Given the description of an element on the screen output the (x, y) to click on. 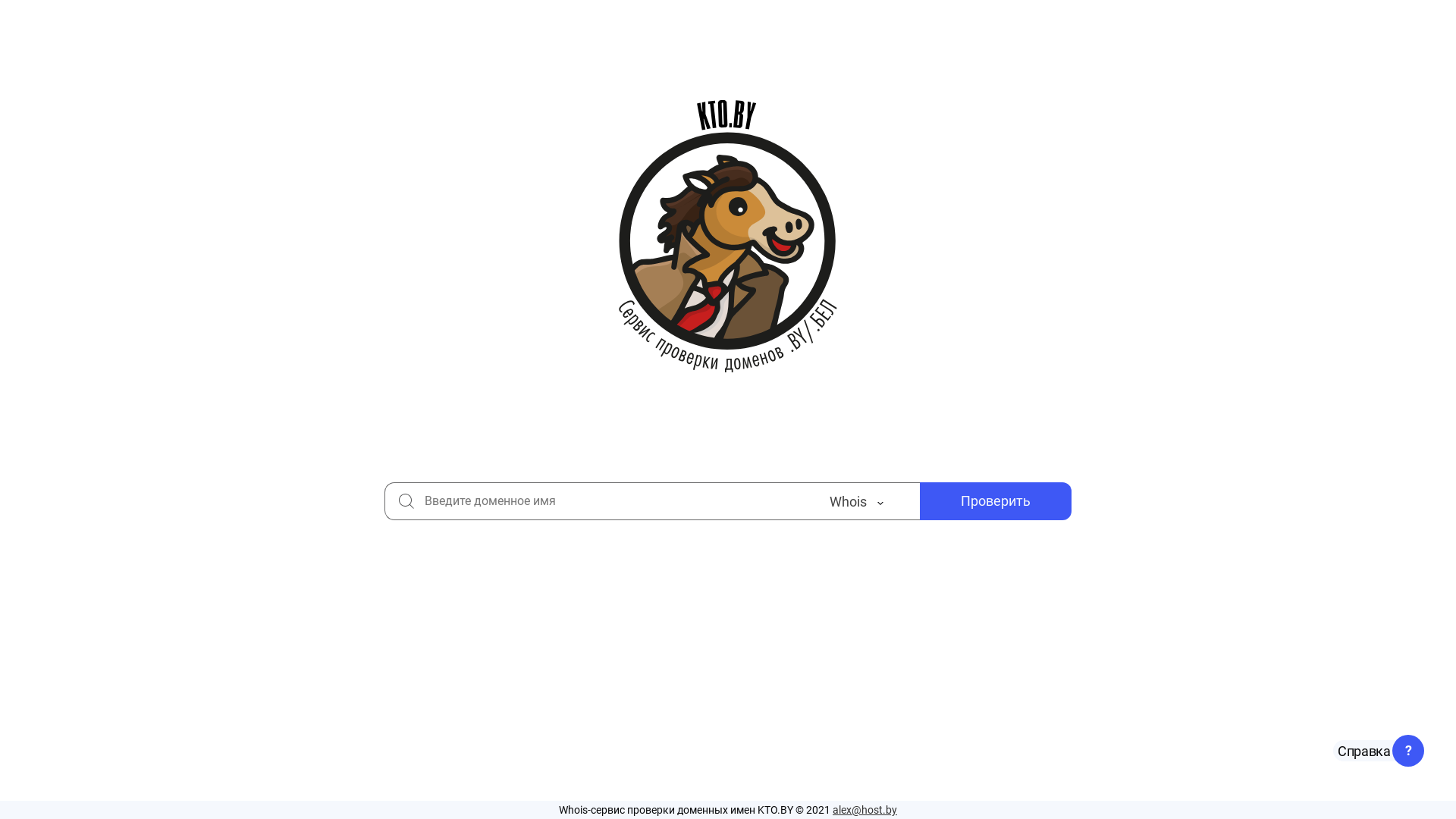
alex@host.by Element type: text (864, 809)
